Given the description of an element on the screen output the (x, y) to click on. 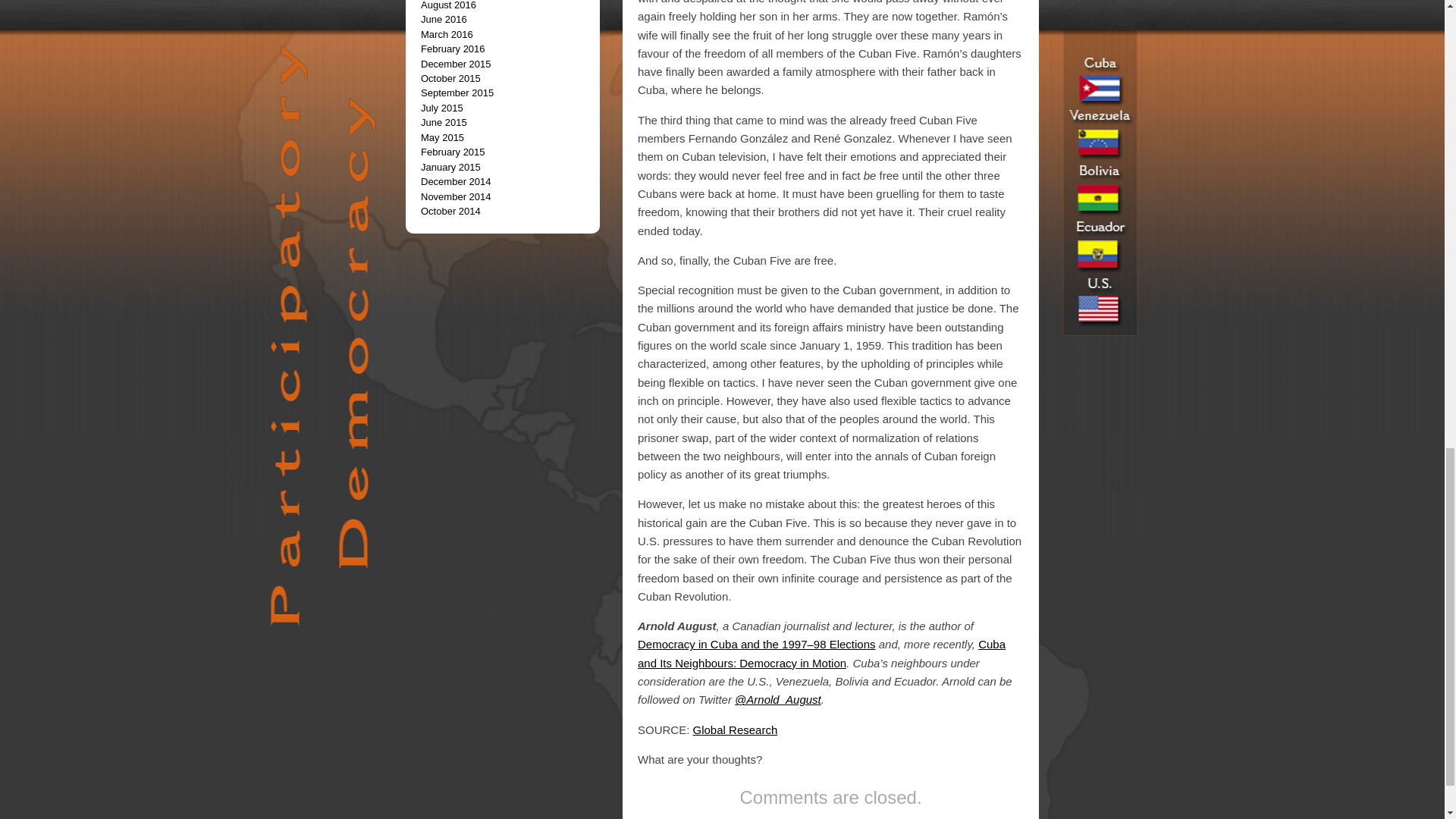
Global Research (735, 729)
February 2016 (452, 48)
Cuba and Its Neighbours: Democracy in Motion (821, 653)
December 2015 (456, 63)
June 2016 (443, 19)
March 2016 (446, 34)
August 2016 (448, 5)
